Given the description of an element on the screen output the (x, y) to click on. 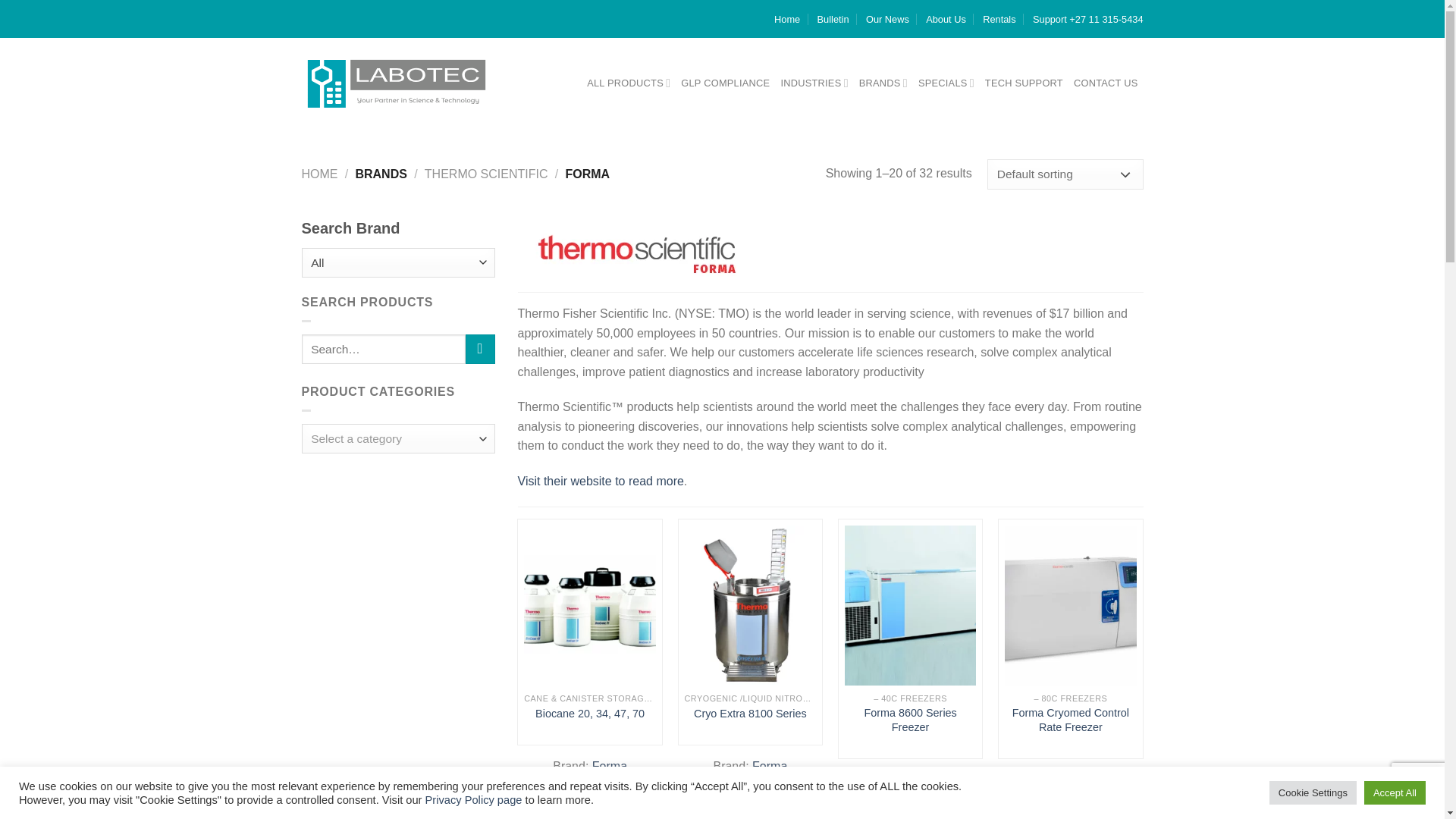
About Us (946, 18)
Bulletin (832, 18)
Our News (887, 18)
All products (627, 82)
INDUSTRIES (813, 82)
Home (786, 18)
ALL PRODUCTS (627, 82)
Rentals (998, 18)
All (394, 263)
GLP COMPLIANCE (725, 82)
